Given the description of an element on the screen output the (x, y) to click on. 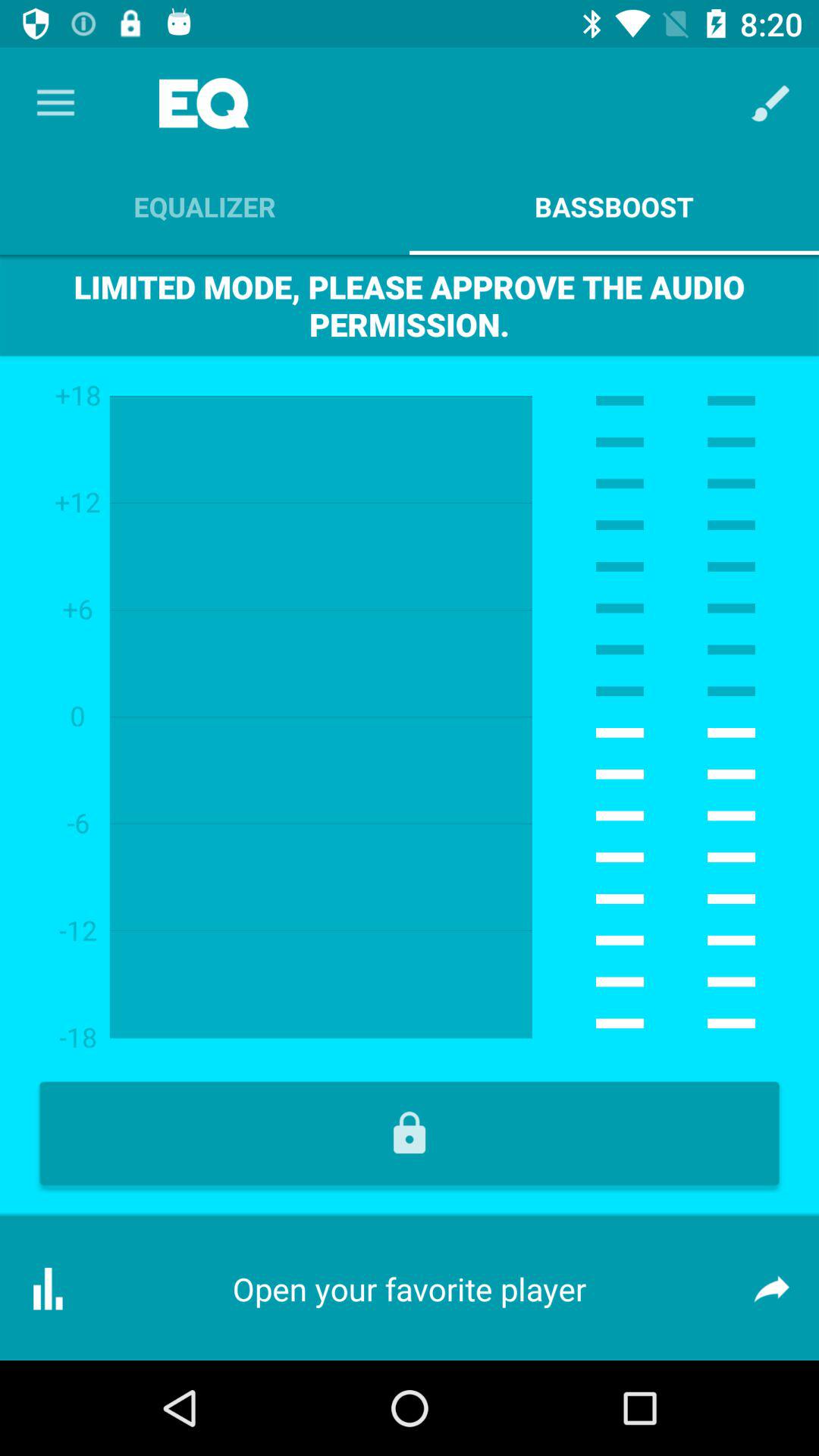
click app to the right of the equalizer app (771, 103)
